Given the description of an element on the screen output the (x, y) to click on. 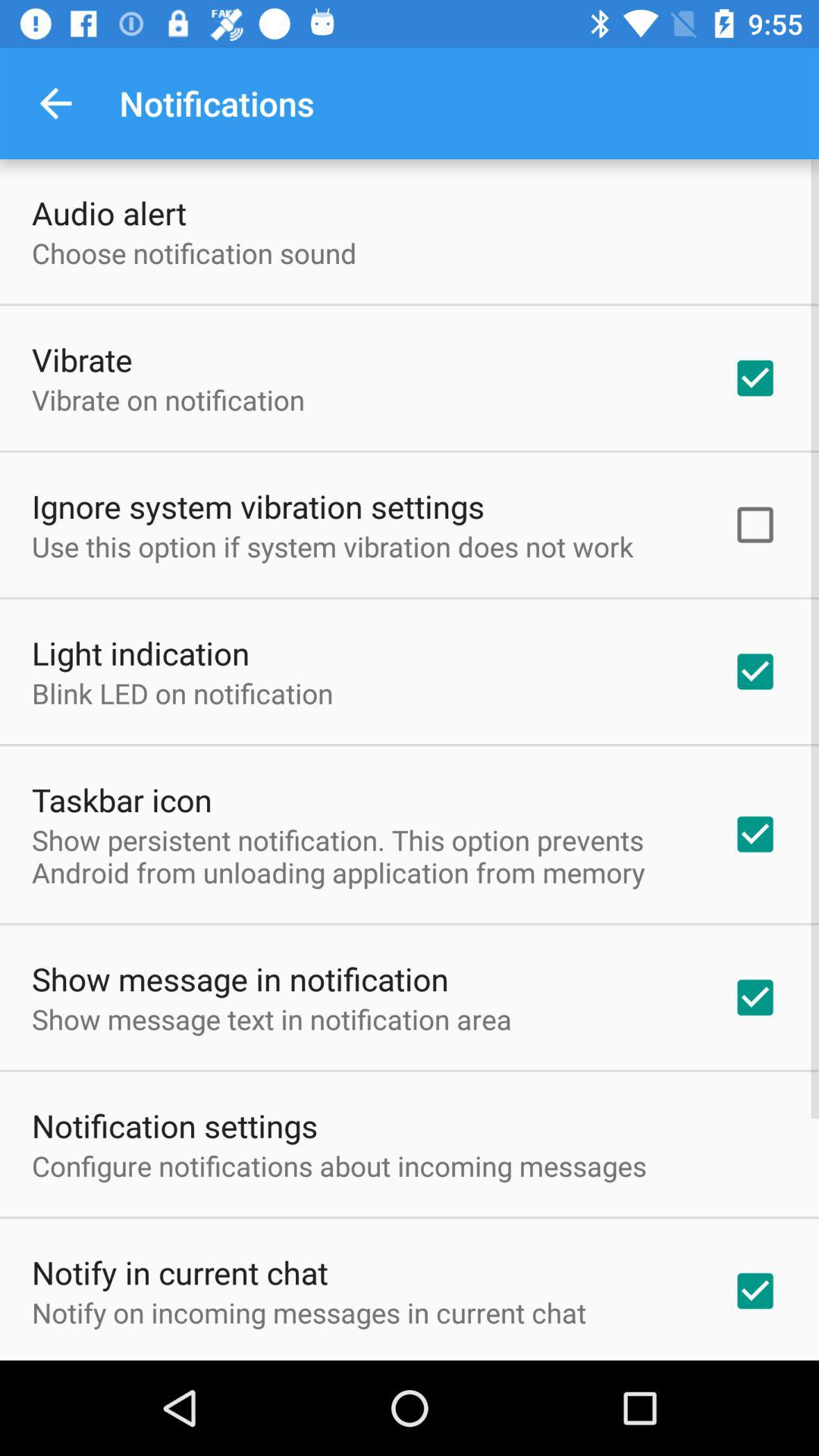
press notification settings icon (174, 1125)
